Given the description of an element on the screen output the (x, y) to click on. 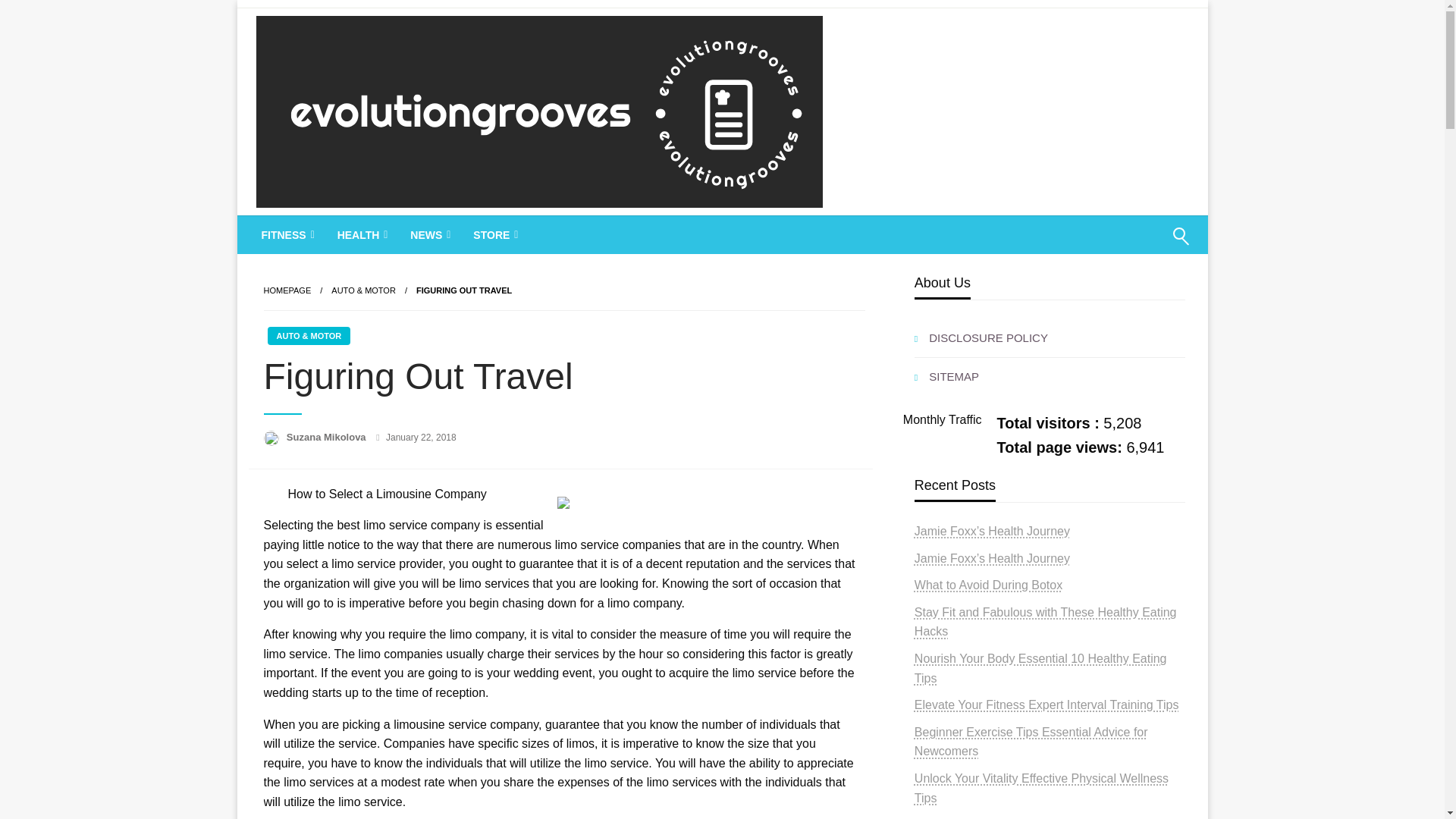
Homepage (287, 289)
Figuring Out Travel (464, 289)
Suzana Mikolova (327, 437)
STORE (493, 234)
FITNESS (286, 234)
Suzana Mikolova (327, 437)
HEALTH (360, 234)
Evolution Grooves (379, 234)
HOMEPAGE (287, 289)
NEWS (428, 234)
Search (1144, 245)
January 22, 2018 (421, 437)
